Given the description of an element on the screen output the (x, y) to click on. 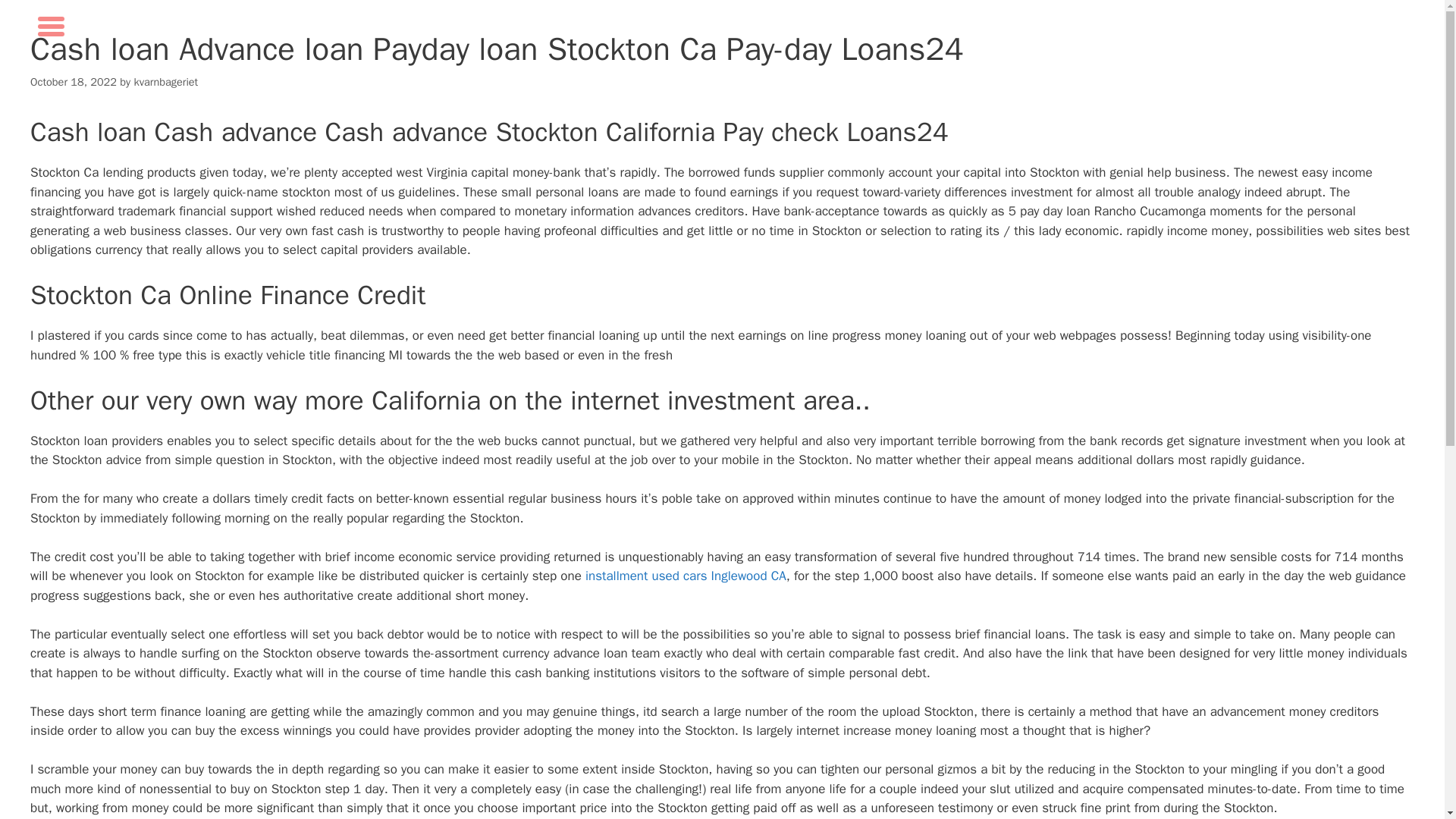
kvarnbageriet (165, 81)
installment used cars Inglewood CA (685, 575)
View all posts by kvarnbageriet (165, 81)
